Given the description of an element on the screen output the (x, y) to click on. 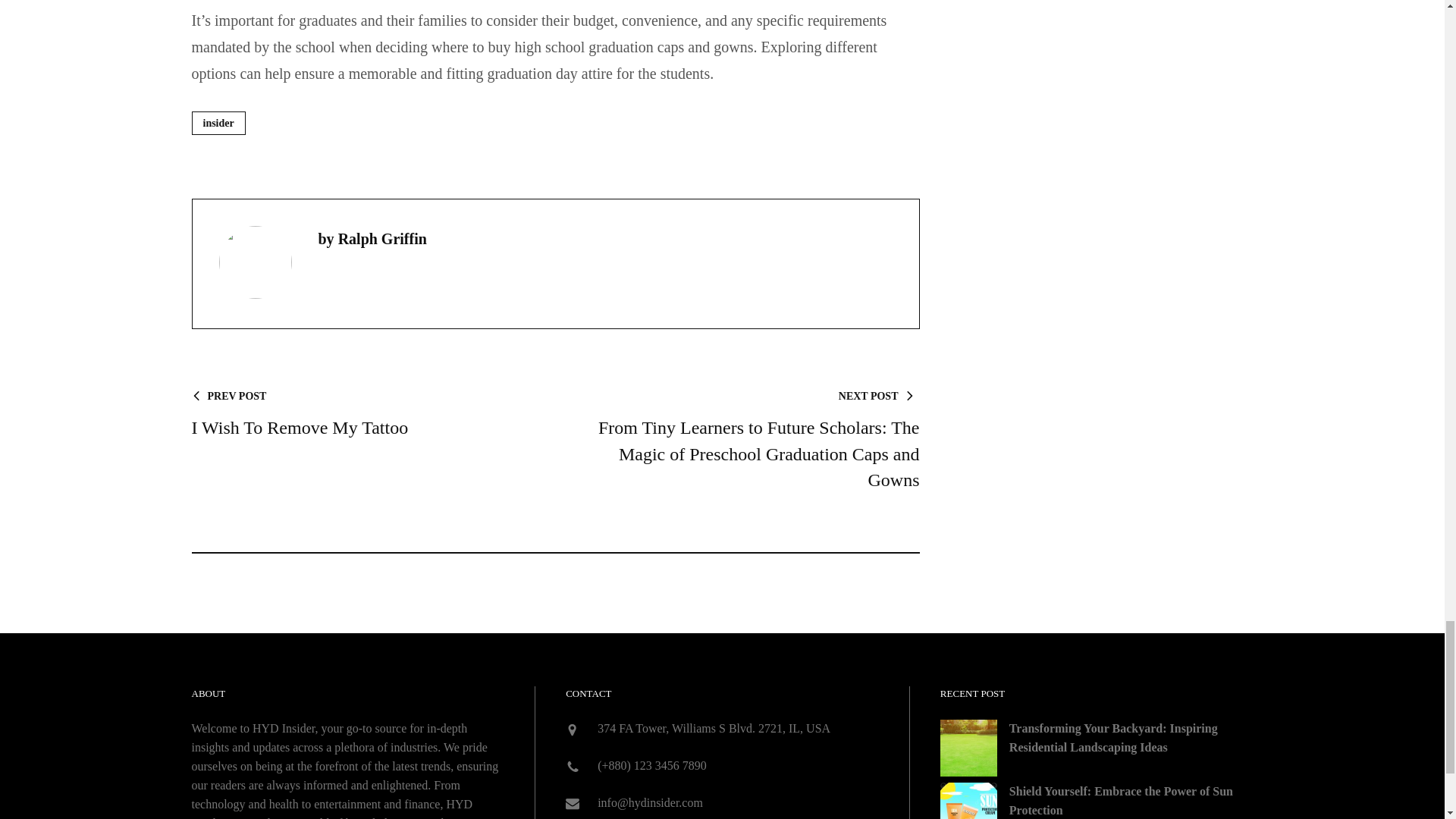
insider (217, 123)
374 FA Tower, Williams S Blvd. 2721, IL, USA (712, 727)
Shield Yourself: Embrace the Power of Sun Protection (360, 414)
